Given the description of an element on the screen output the (x, y) to click on. 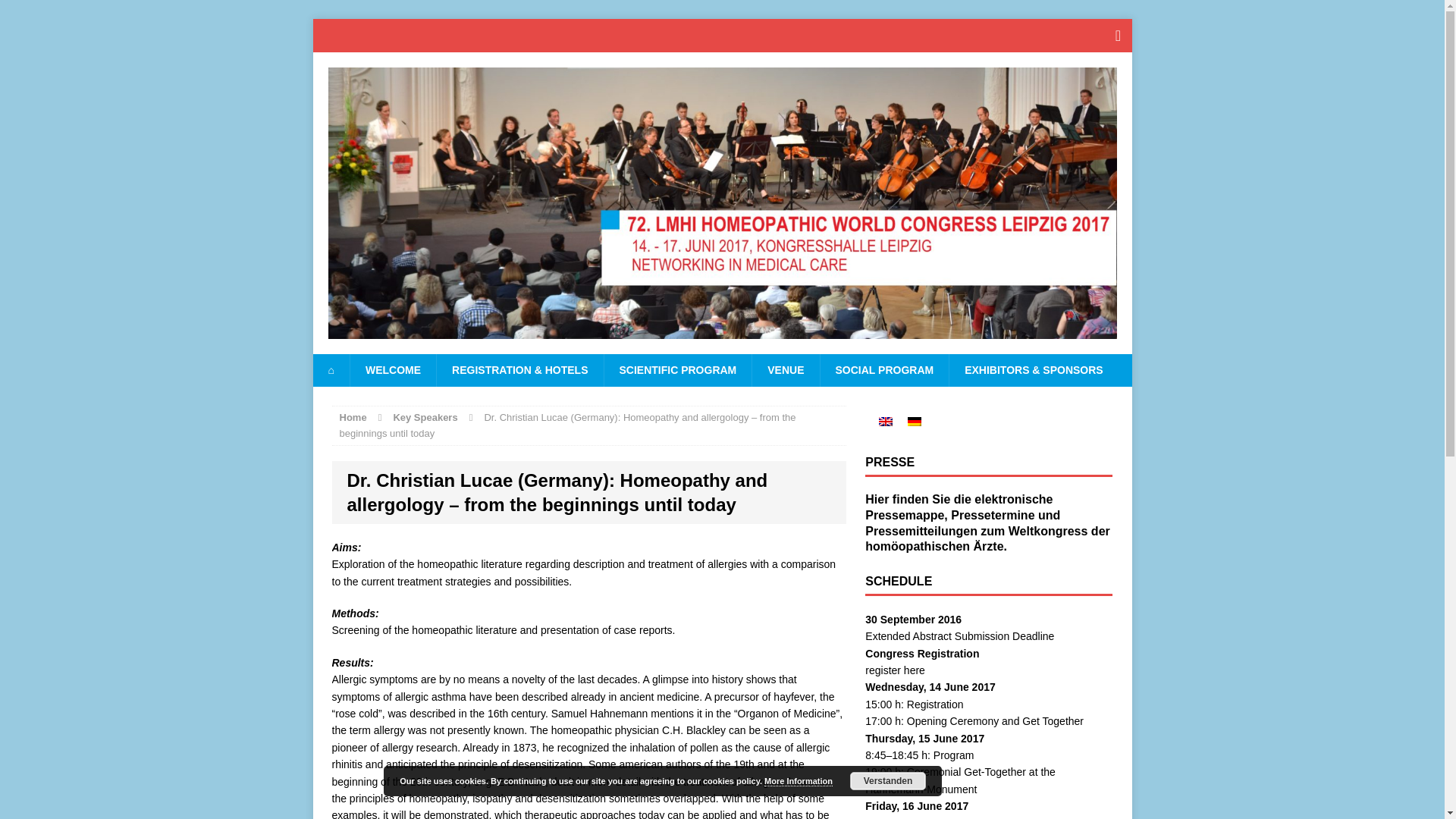
English (885, 420)
Deutsch (914, 420)
